Given the description of an element on the screen output the (x, y) to click on. 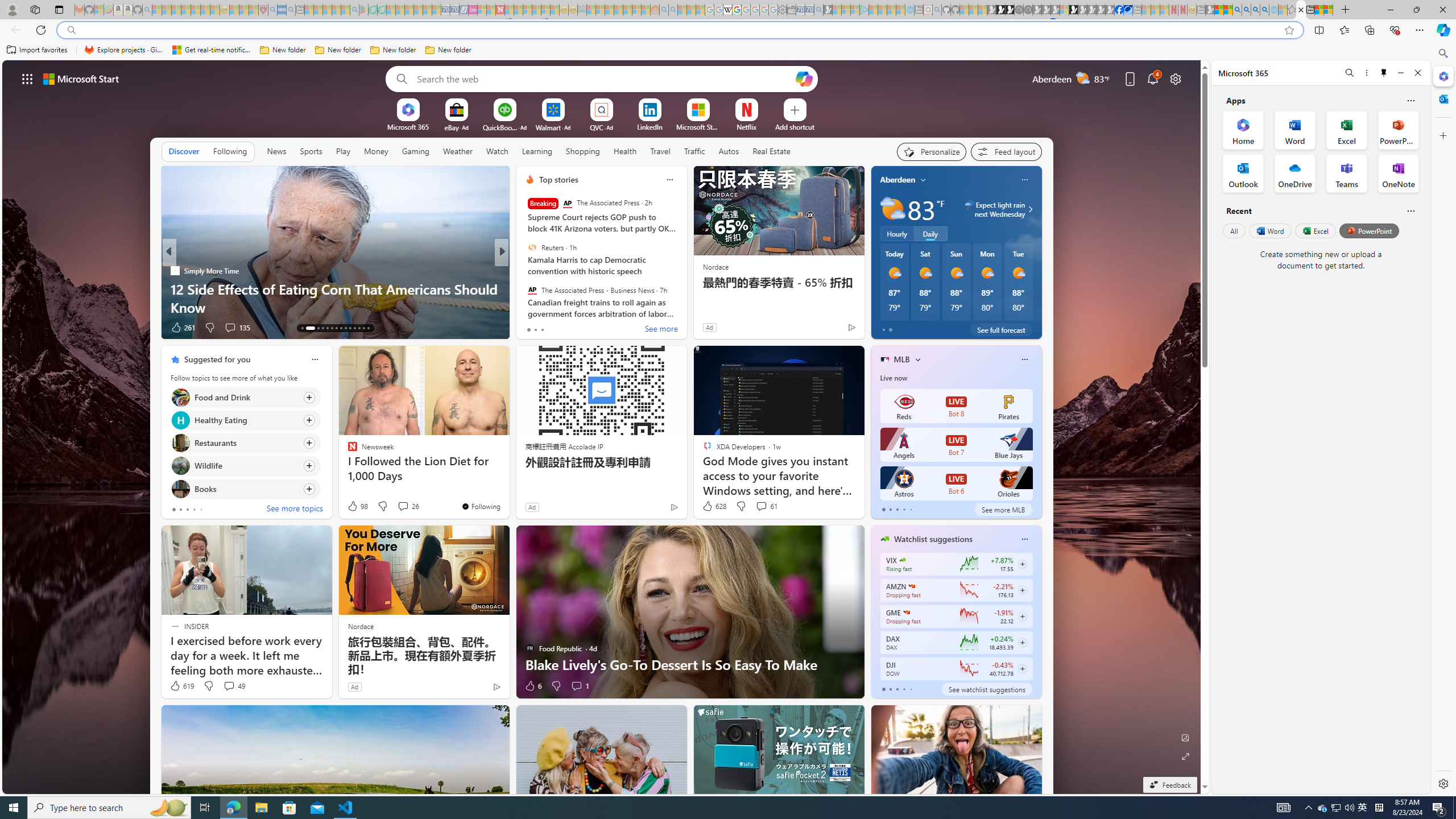
View comments 31 Comment (580, 327)
View comments 2 Comment (576, 327)
View comments 308 Comment (232, 327)
Is this helpful? (1410, 210)
The Associated Press - Business News (532, 289)
28 Like (530, 327)
MSN - Sleeping (1210, 9)
